Given the description of an element on the screen output the (x, y) to click on. 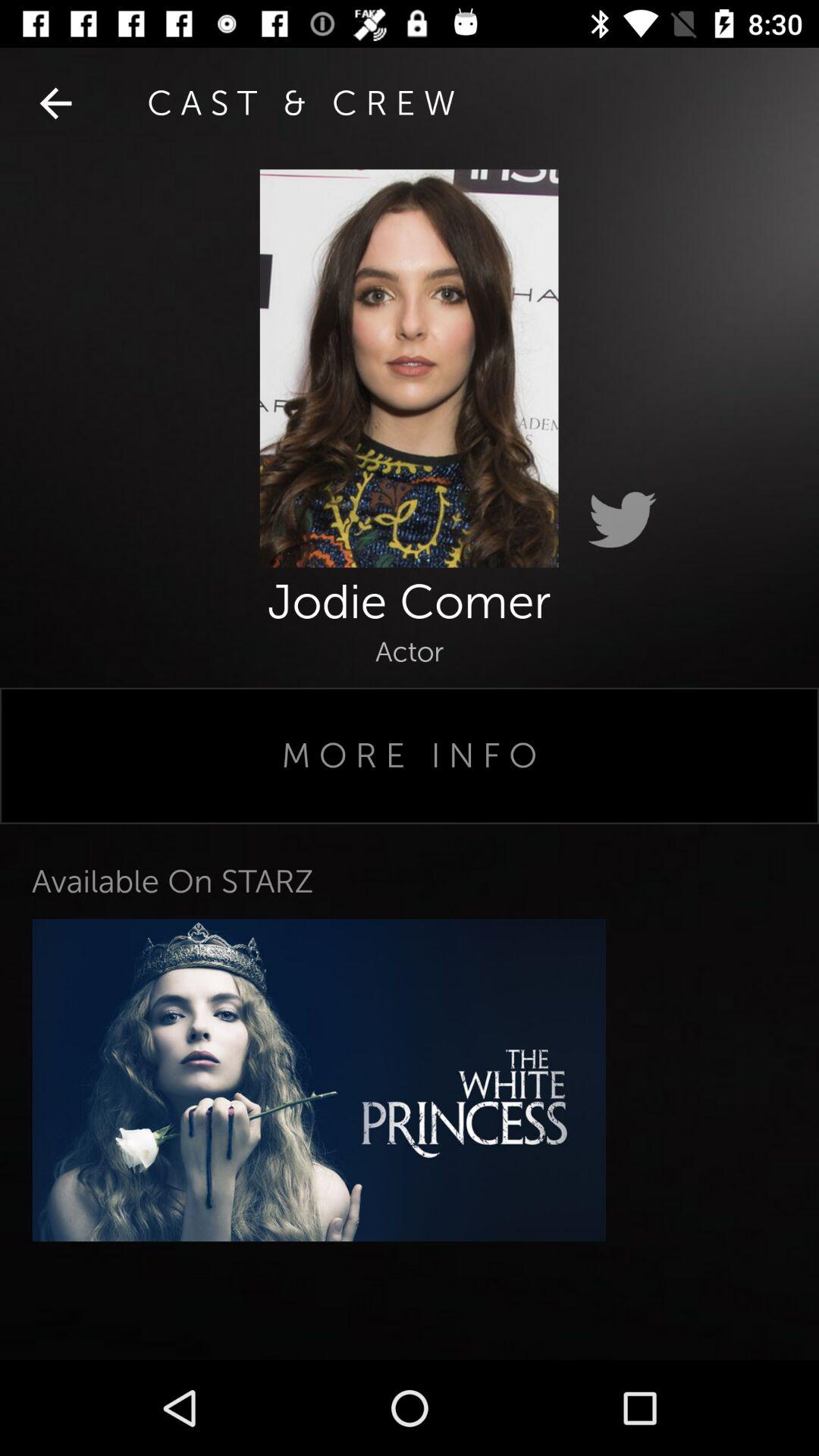
open the icon above available on starz (409, 755)
